Given the description of an element on the screen output the (x, y) to click on. 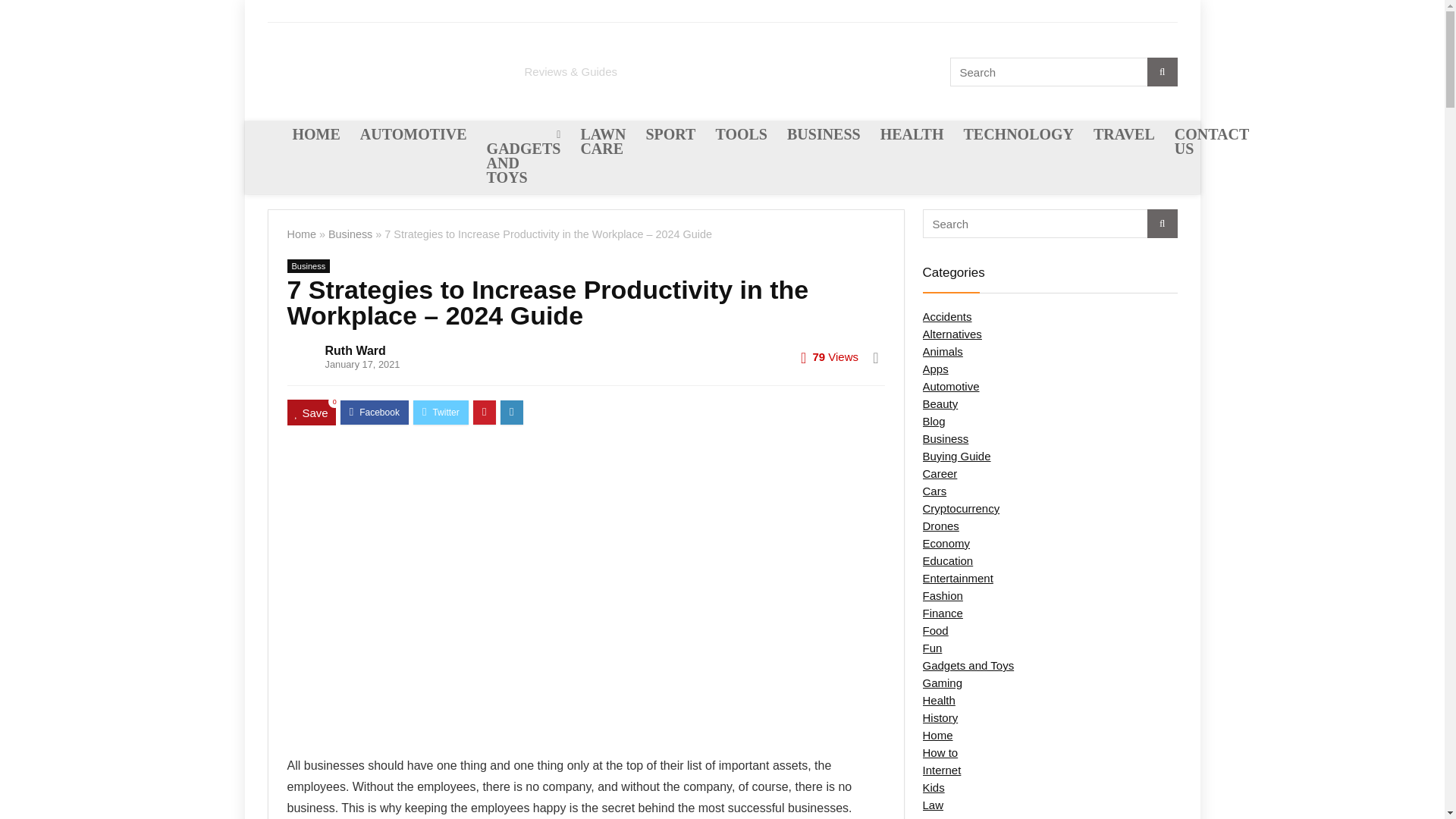
Business (308, 265)
AUTOMOTIVE (413, 135)
View all posts in Business (308, 265)
LAWN CARE (602, 142)
GADGETS AND TOYS (523, 157)
Ruth Ward (354, 350)
SPORT (669, 135)
BUSINESS (823, 135)
CONTACT US (1211, 142)
Home (300, 234)
